Given the description of an element on the screen output the (x, y) to click on. 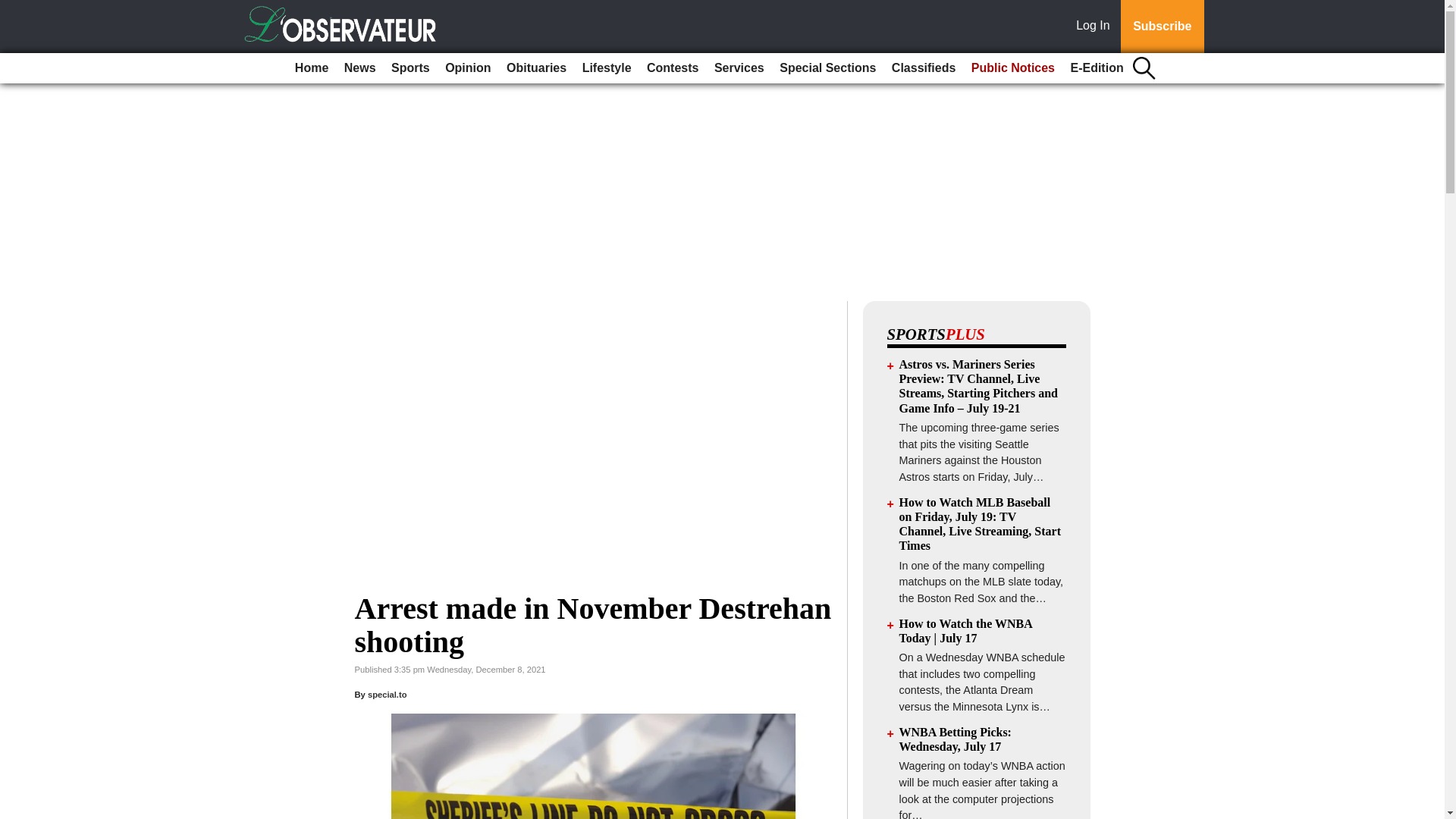
Public Notices (1013, 68)
Home (311, 68)
E-Edition (1096, 68)
Classifieds (922, 68)
News (359, 68)
Special Sections (827, 68)
special.to (387, 694)
Sports (410, 68)
Log In (1095, 26)
WNBA Betting Picks: Wednesday, July 17 (955, 738)
Lifestyle (606, 68)
Contests (672, 68)
Services (738, 68)
Opinion (467, 68)
Obituaries (536, 68)
